Given the description of an element on the screen output the (x, y) to click on. 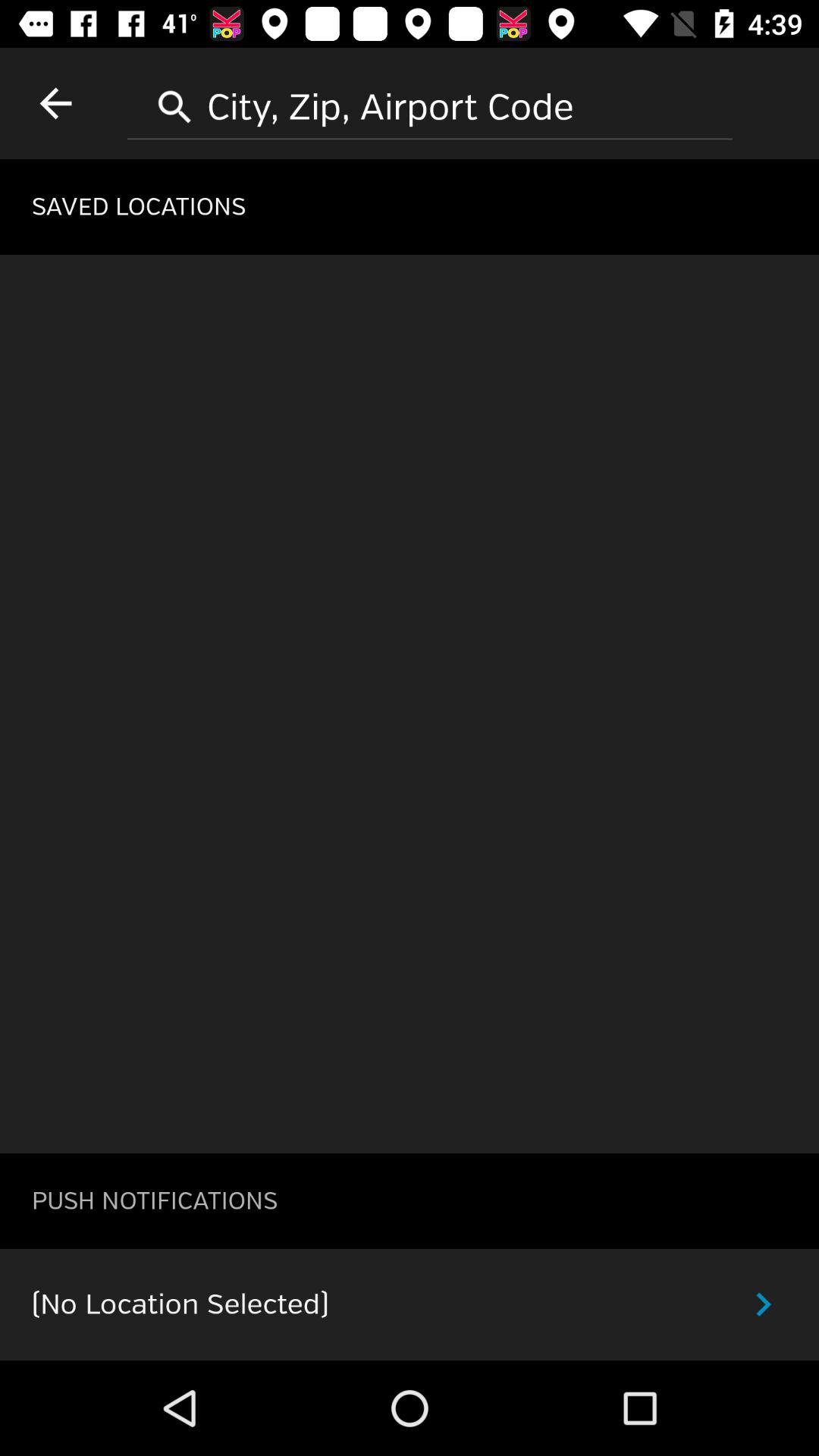
select icon above the push notifications (409, 703)
